Given the description of an element on the screen output the (x, y) to click on. 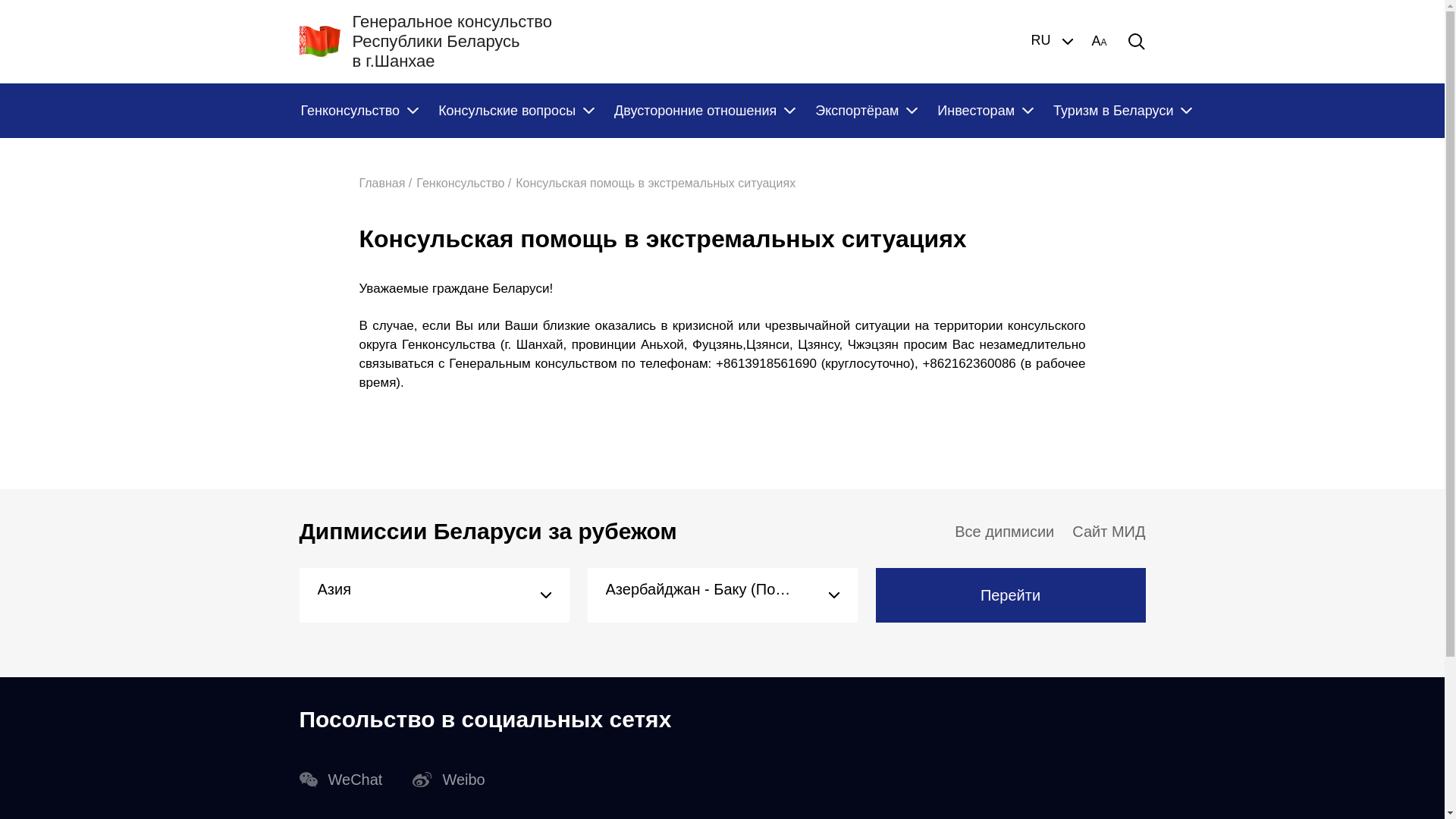
AA Element type: text (1098, 41)
Weibo Element type: text (448, 779)
WeChat Element type: text (340, 779)
